Given the description of an element on the screen output the (x, y) to click on. 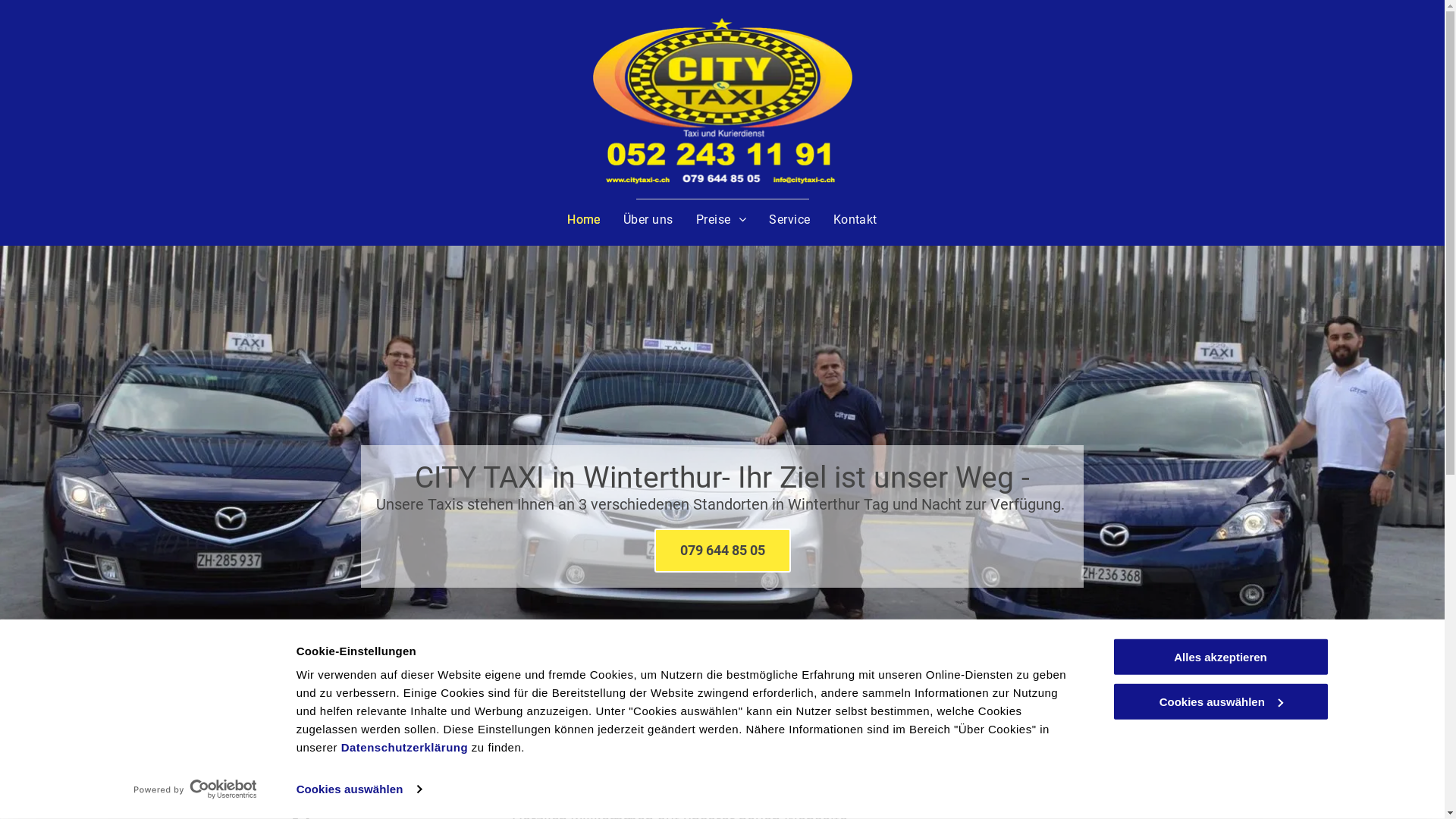
Kontakt Element type: text (855, 219)
Home Element type: text (583, 219)
Service Element type: text (788, 219)
Preise Element type: text (721, 219)
Alles akzeptieren Element type: text (1219, 656)
